Given the description of an element on the screen output the (x, y) to click on. 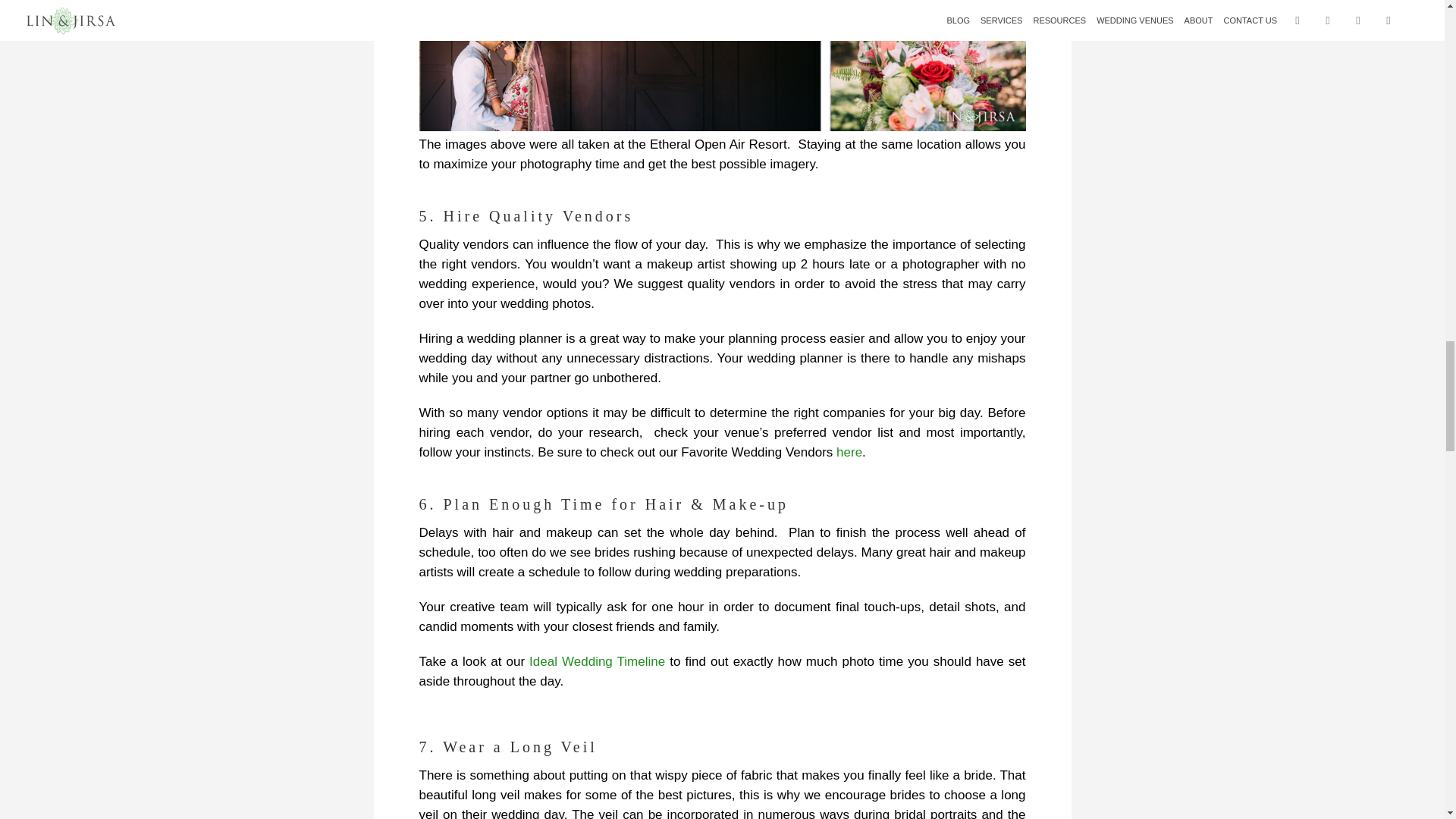
here (848, 452)
